Given the description of an element on the screen output the (x, y) to click on. 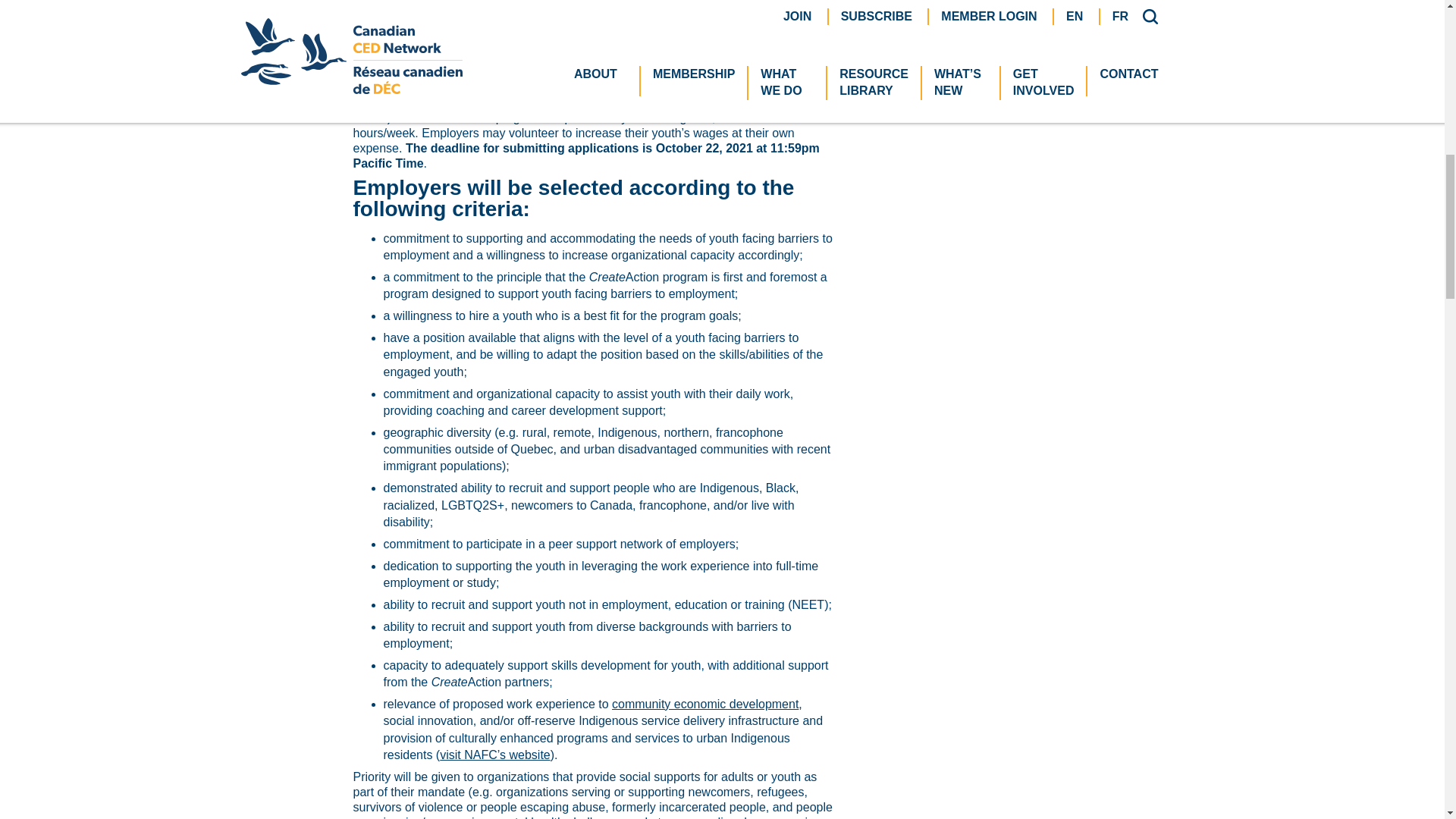
Social Research and Demonstration Corporation (658, 14)
community economic development (704, 703)
community economic development (446, 51)
